Given the description of an element on the screen output the (x, y) to click on. 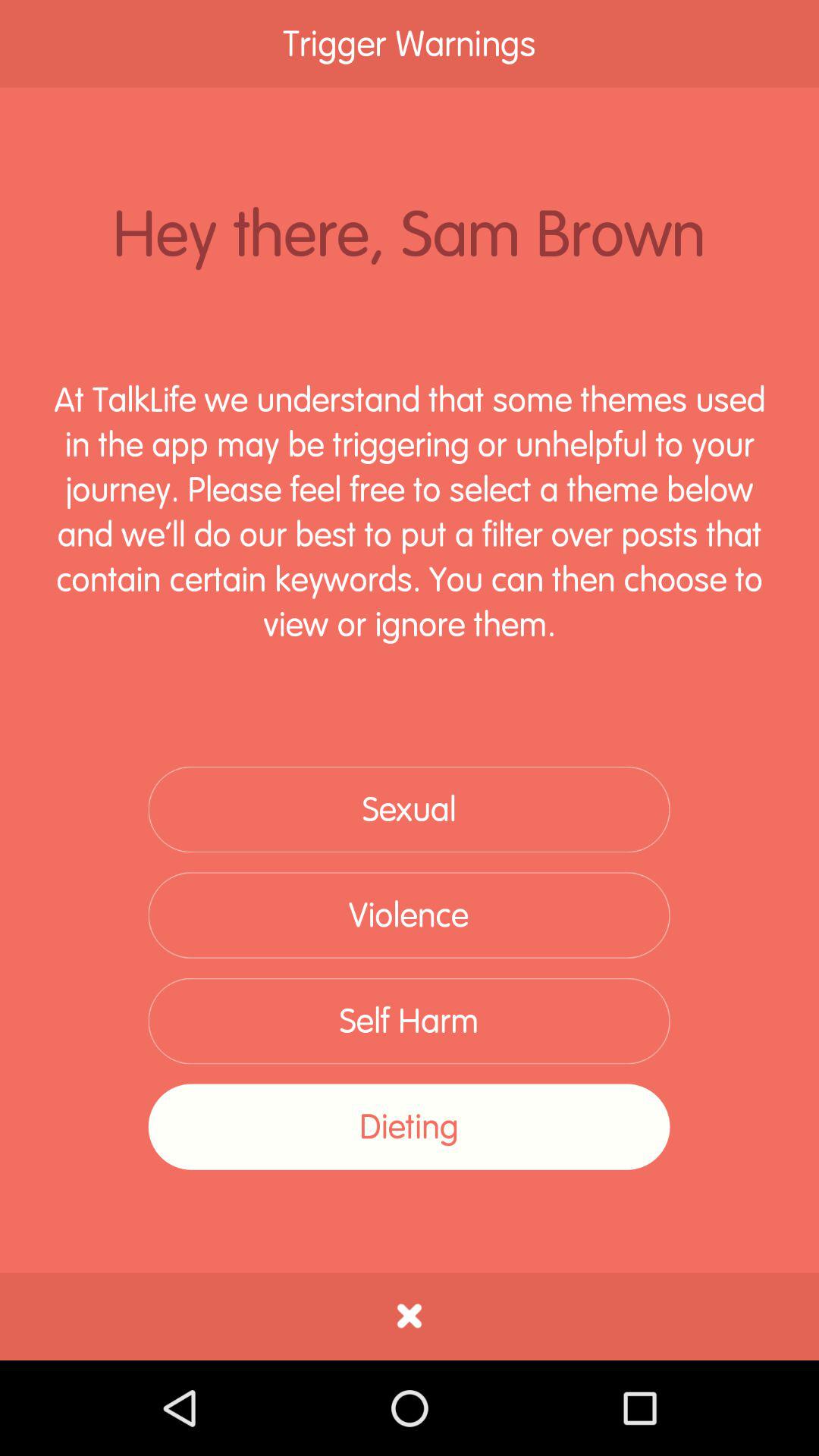
turn on icon above the dieting item (408, 1021)
